Given the description of an element on the screen output the (x, y) to click on. 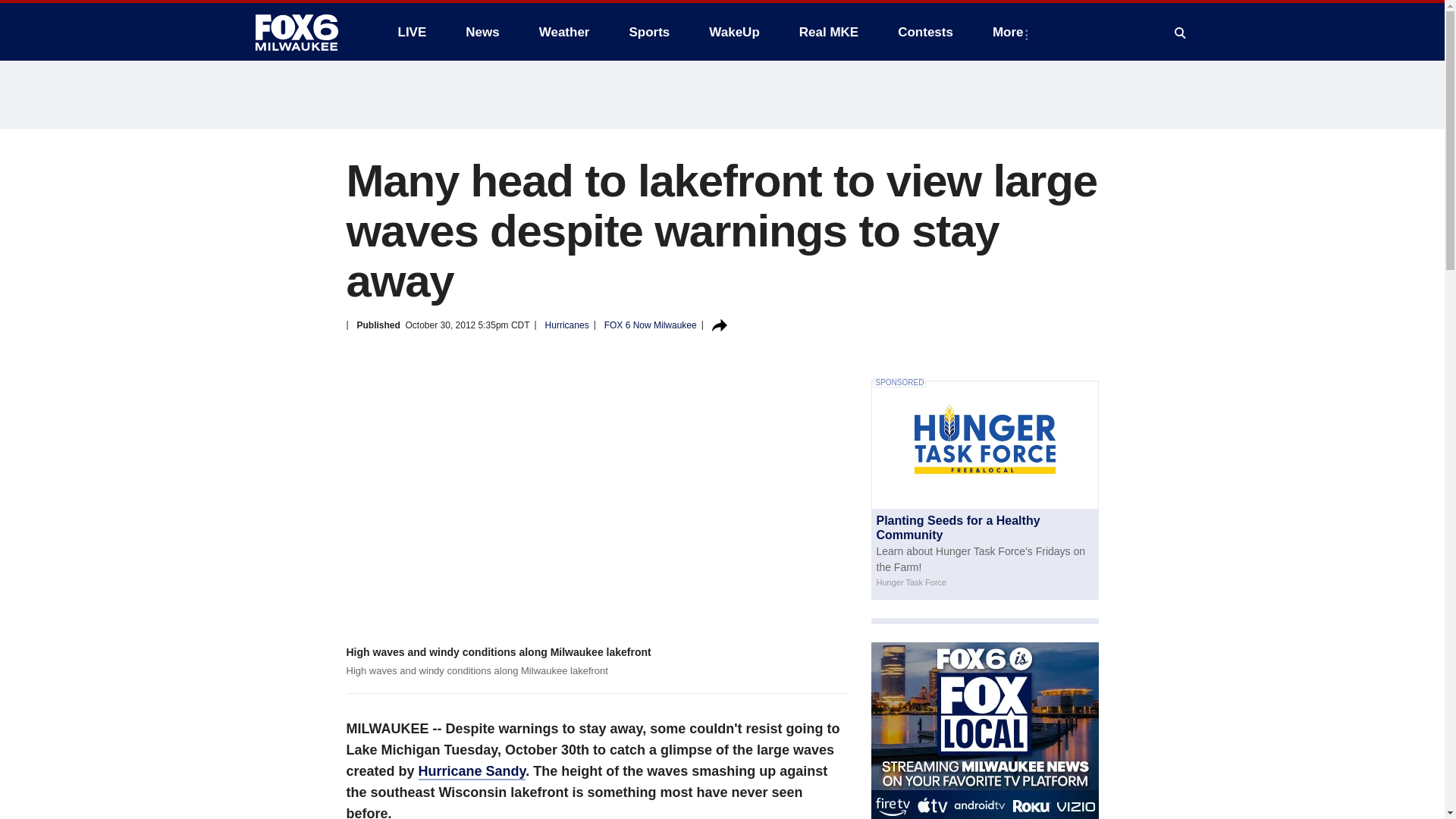
News (481, 32)
LIVE (411, 32)
WakeUp (734, 32)
Real MKE (828, 32)
Weather (564, 32)
Sports (648, 32)
Contests (925, 32)
More (1010, 32)
